Given the description of an element on the screen output the (x, y) to click on. 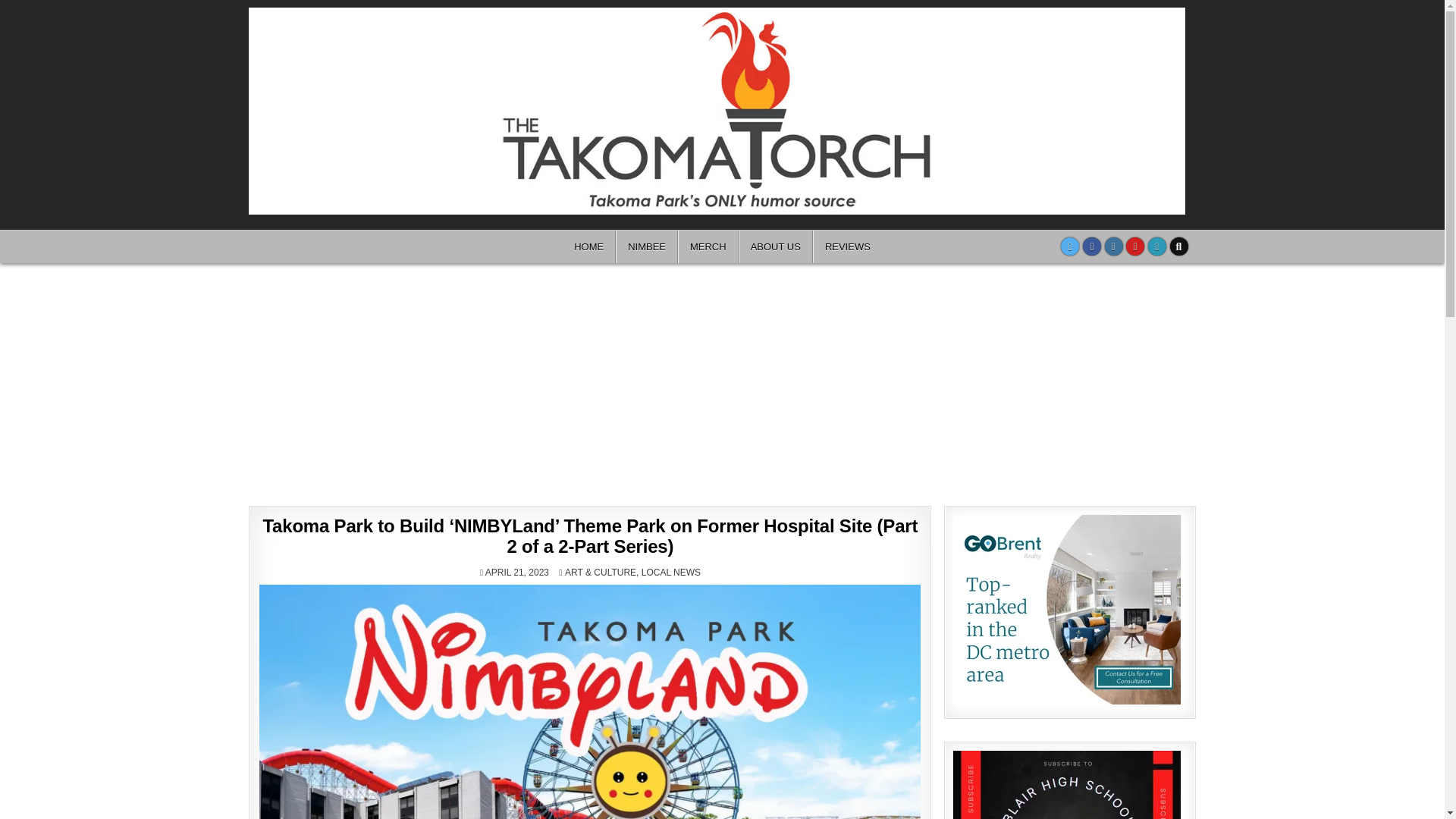
LOCAL NEWS (671, 572)
REVIEWS (847, 246)
NIMBEE (646, 246)
ABOUT US (775, 246)
THE TAKOMA TORCH (1234, 34)
HOME (588, 246)
MERCH (708, 246)
